Given the description of an element on the screen output the (x, y) to click on. 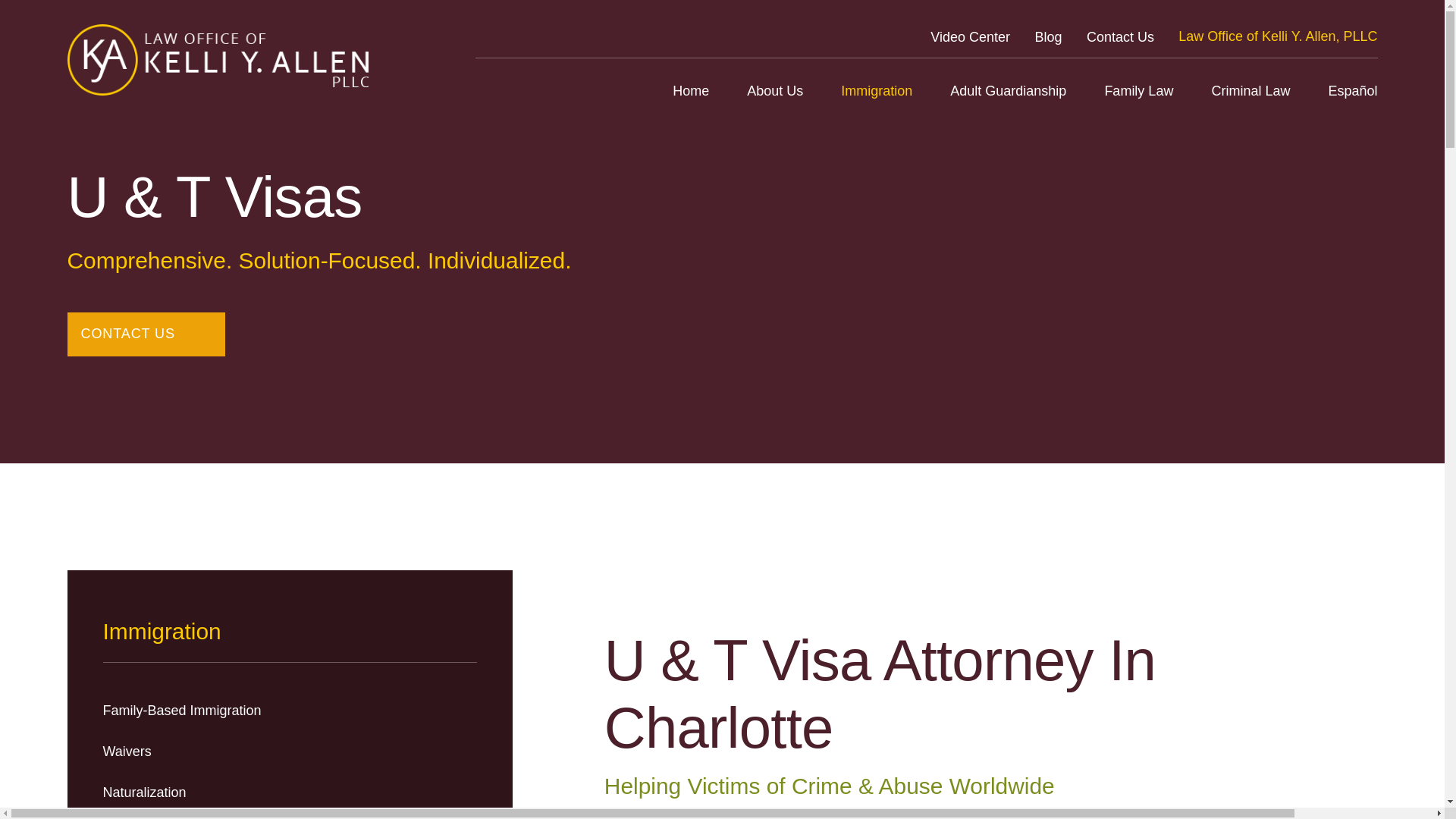
About Us (774, 90)
Open child menu of Family-Based Immigration (470, 710)
Home (690, 90)
Immigration (876, 90)
Video Center (970, 37)
Family Law (1138, 90)
Home (217, 59)
Criminal Law (1250, 90)
Adult Guardianship (1007, 90)
Contact Us (1120, 37)
